Given the description of an element on the screen output the (x, y) to click on. 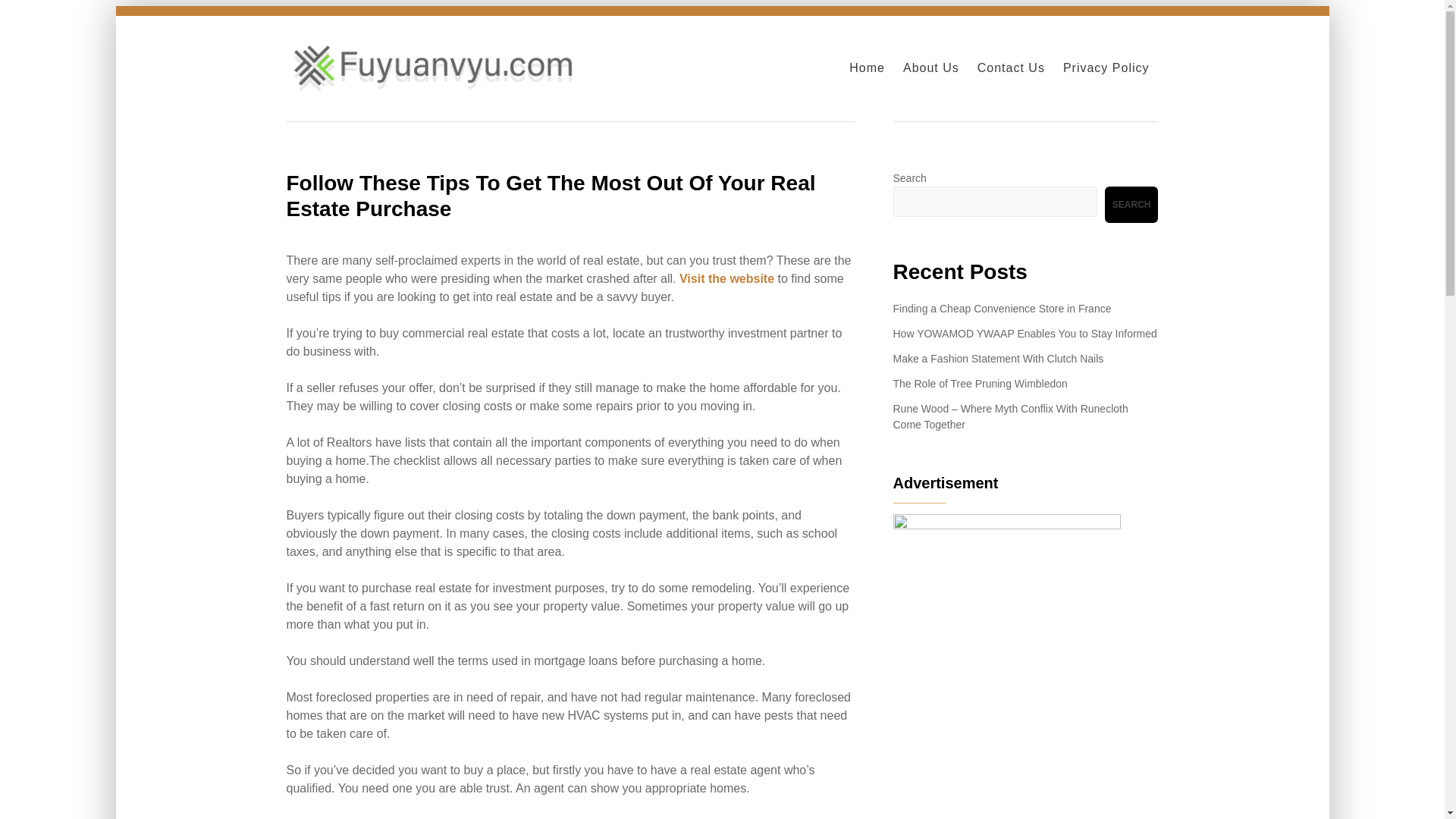
Contact Us (1010, 68)
The Role of Tree Pruning Wimbledon (980, 383)
Privacy Policy (1106, 68)
SEARCH (1131, 204)
How YOWAMOD YWAAP Enables You to Stay Informed (1025, 333)
Finding a Cheap Convenience Store in France (1002, 308)
About Us (930, 68)
Visit the website (726, 278)
Home (866, 68)
Make a Fashion Statement With Clutch Nails (998, 358)
